Given the description of an element on the screen output the (x, y) to click on. 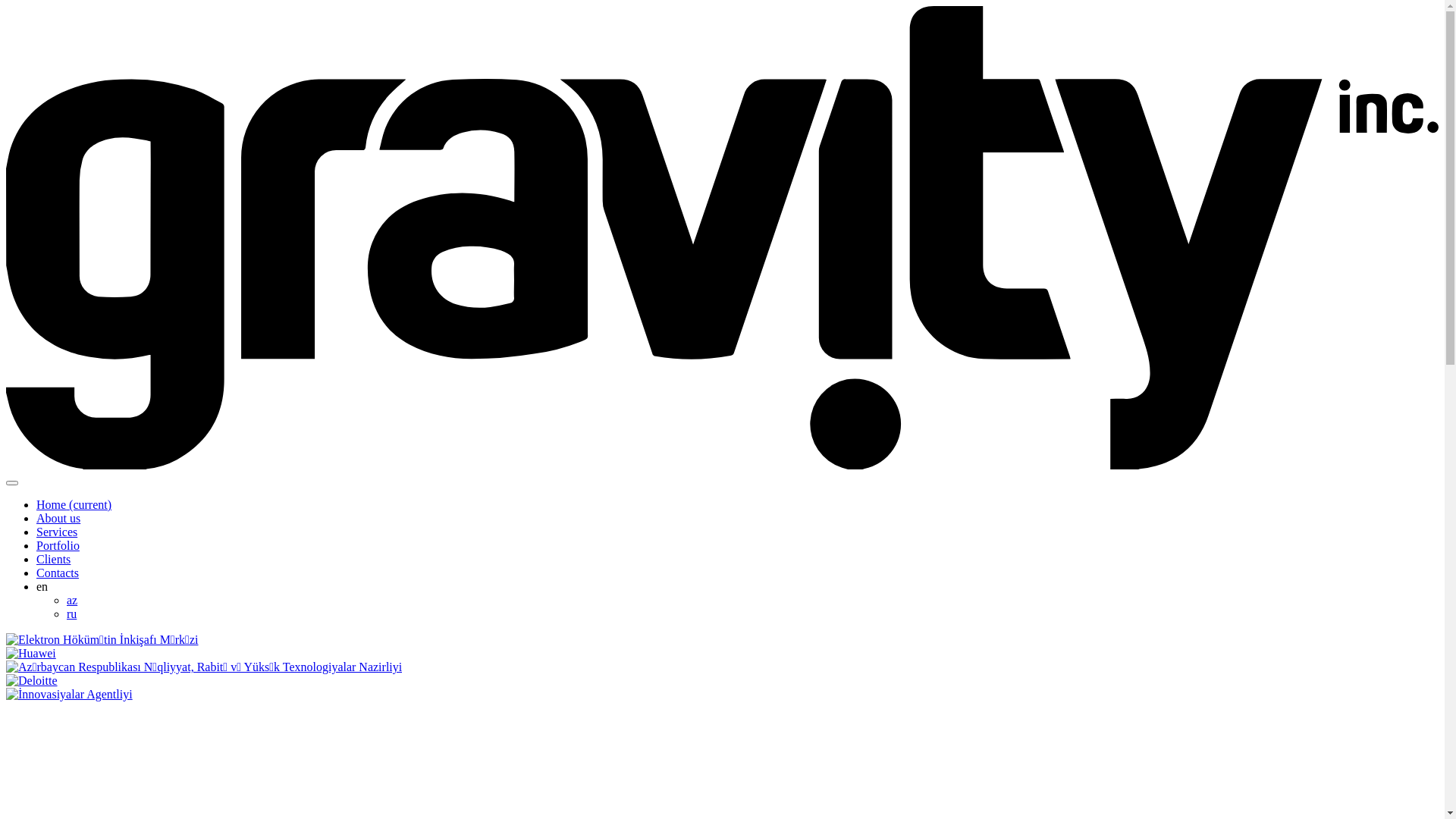
az Element type: text (71, 599)
Portfolio Element type: text (57, 545)
Deloitte Element type: hover (31, 680)
Huawei Element type: hover (31, 652)
Home (current) Element type: text (73, 504)
Clients Element type: text (53, 558)
ru Element type: text (71, 613)
Contacts Element type: text (57, 572)
About us Element type: text (58, 517)
Services Element type: text (56, 531)
